Given the description of an element on the screen output the (x, y) to click on. 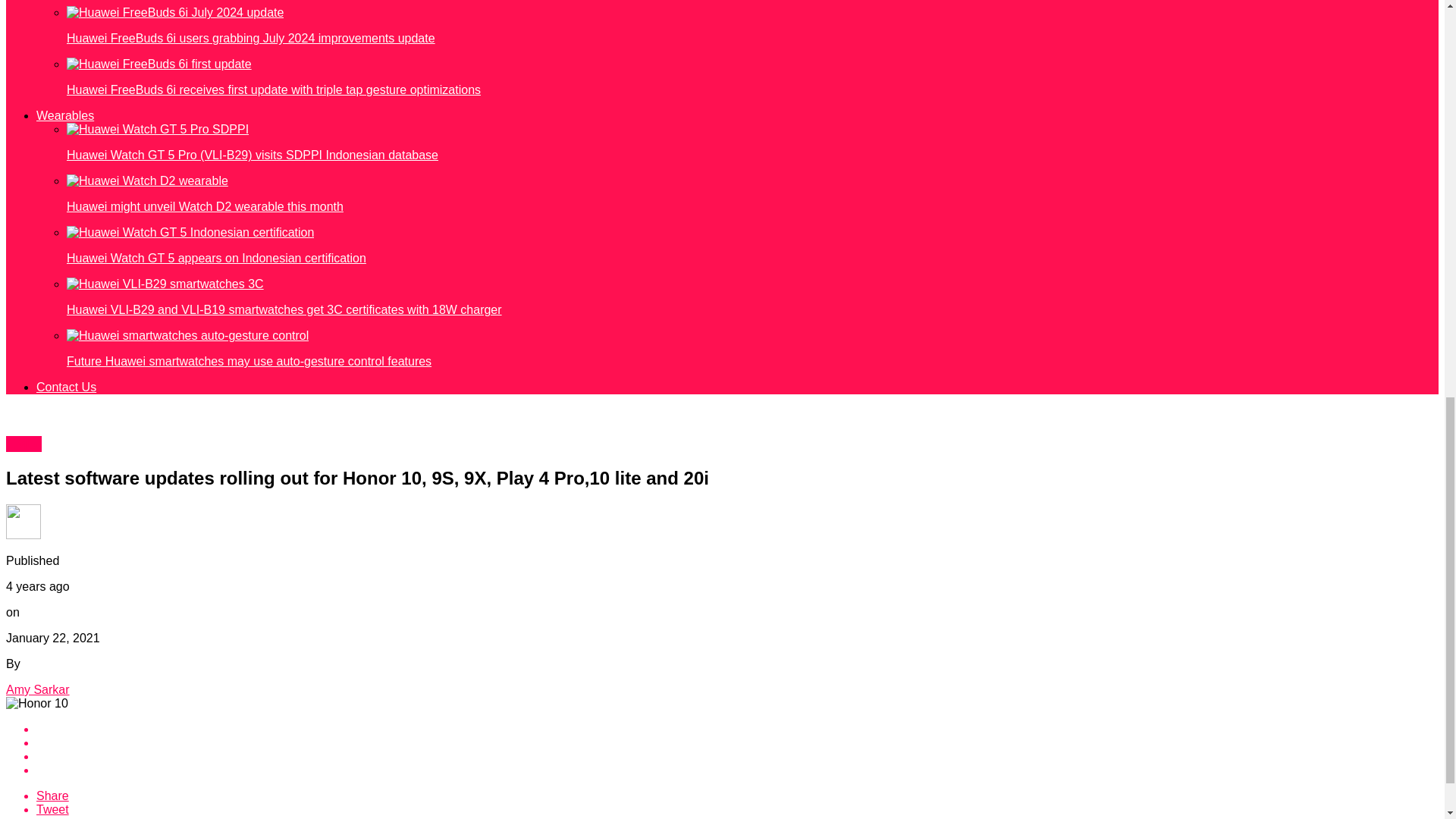
Posts by Amy Sarkar (37, 689)
